Given the description of an element on the screen output the (x, y) to click on. 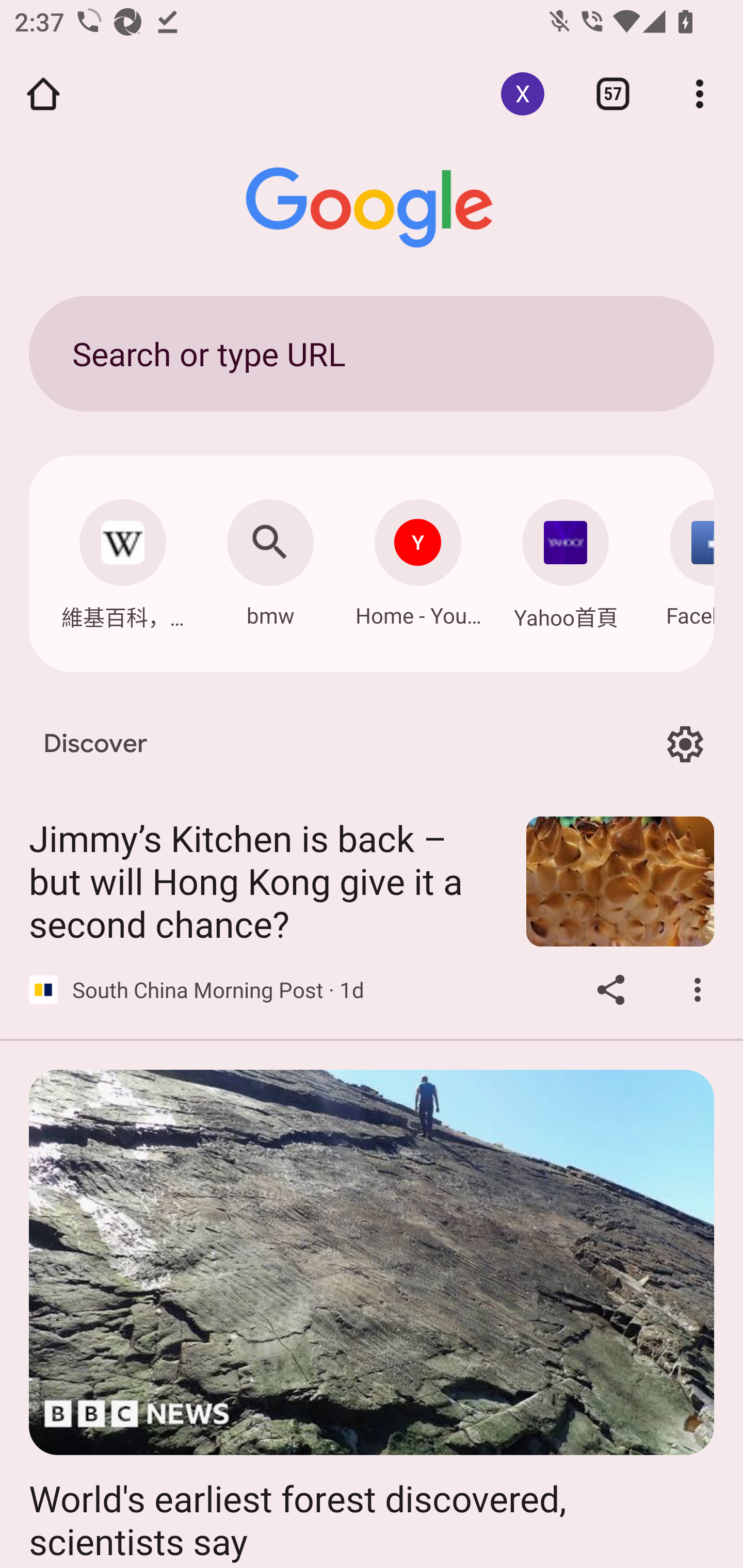
Open the home page (43, 93)
Switch or close tabs (612, 93)
Customize and control Google Chrome (699, 93)
Search or type URL (371, 353)
Search: bmw bmw (270, 558)
Navigate: Yahoo首頁: hk.mobi.yahoo.com Yahoo首頁 (565, 558)
Options for Discover (684, 743)
